Given the description of an element on the screen output the (x, y) to click on. 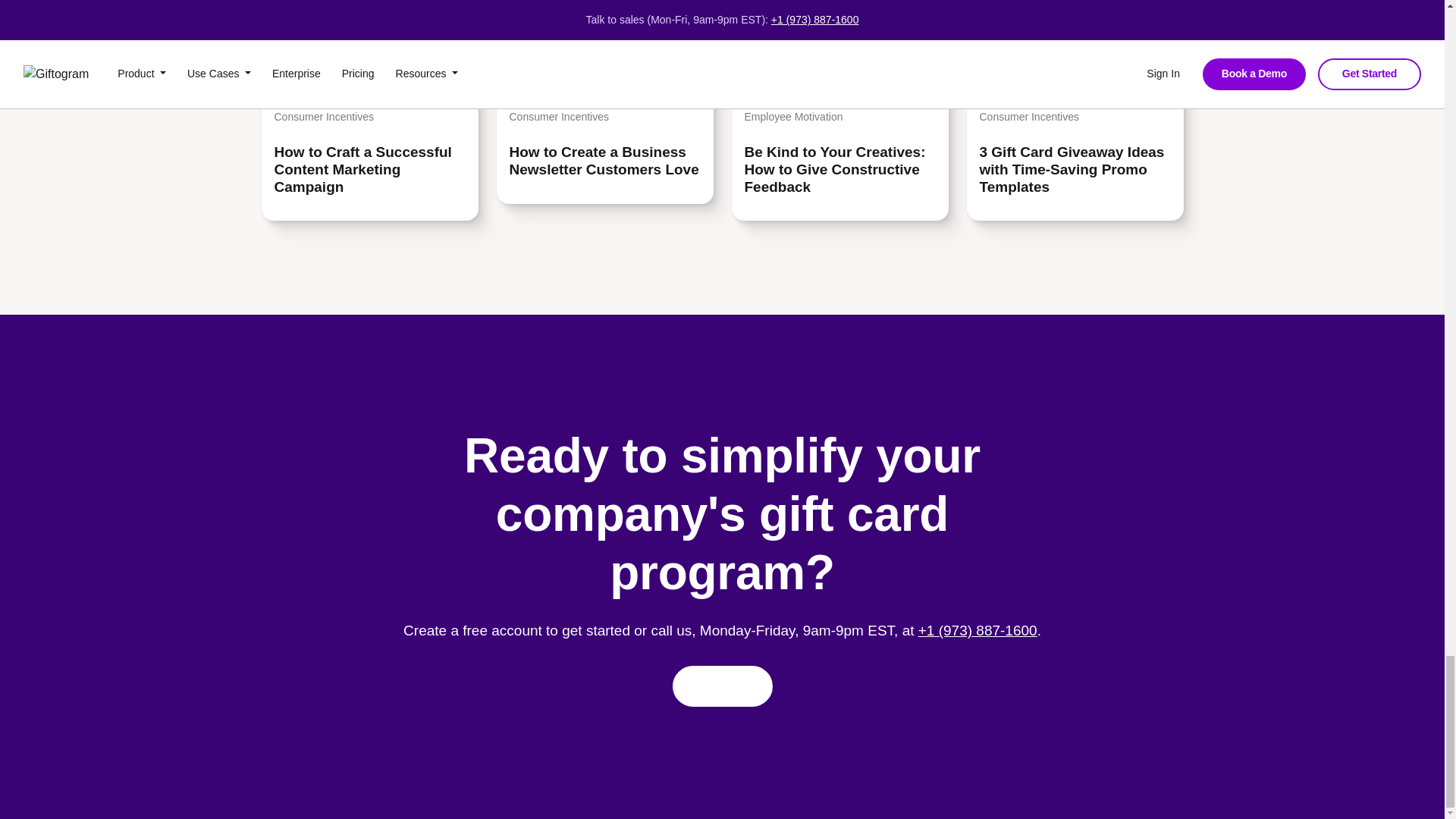
How to Craft a Successful Content Marketing Campaign (370, 169)
Be Kind to Your Creatives: How to Give Constructive Feedback (840, 169)
How to Create a Business Newsletter Customers Love (604, 161)
3 Gift Card Giveaway Ideas with Time-Saving Promo Templates (1074, 169)
